Given the description of an element on the screen output the (x, y) to click on. 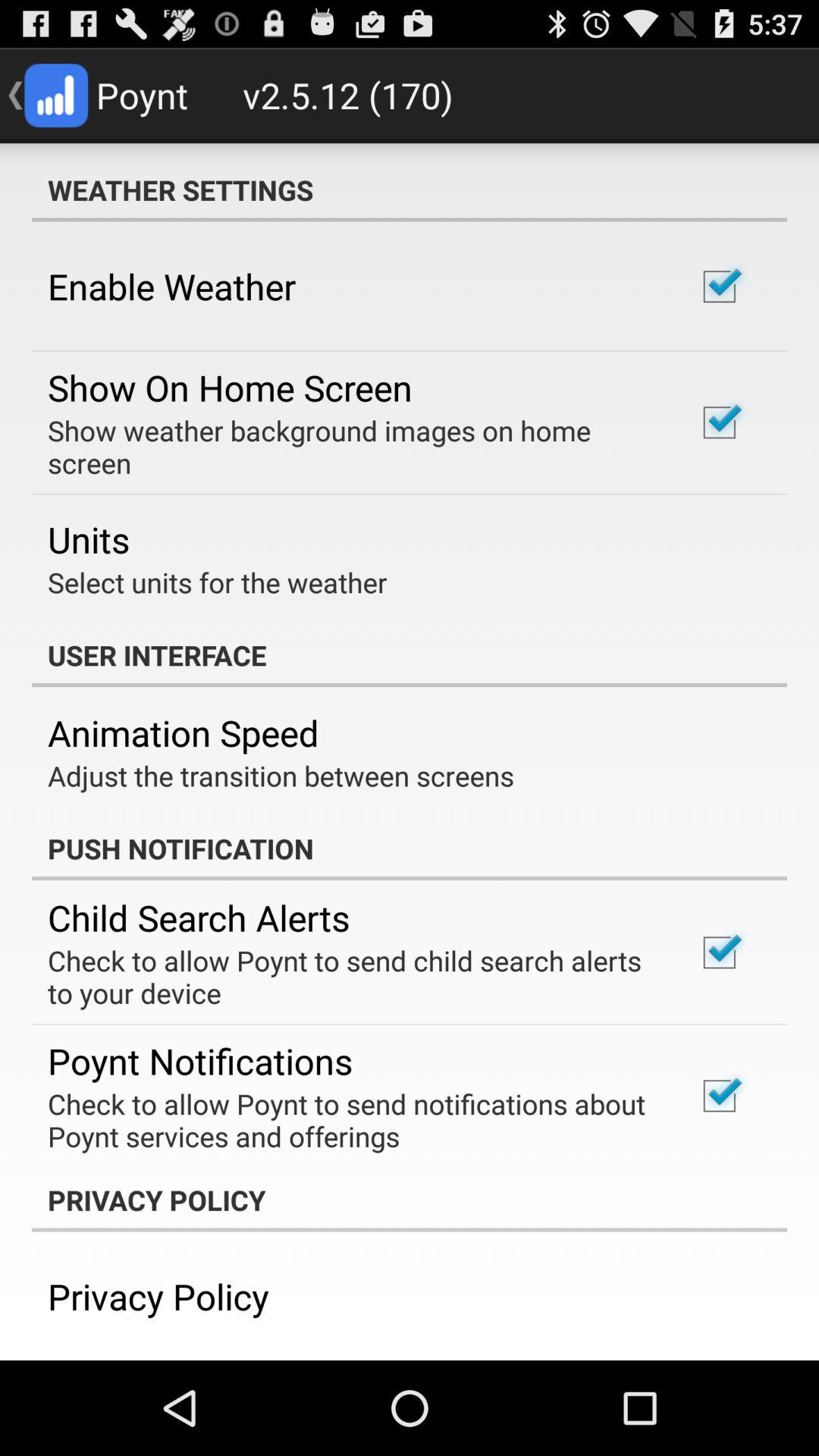
swipe until adjust the transition item (280, 775)
